Given the description of an element on the screen output the (x, y) to click on. 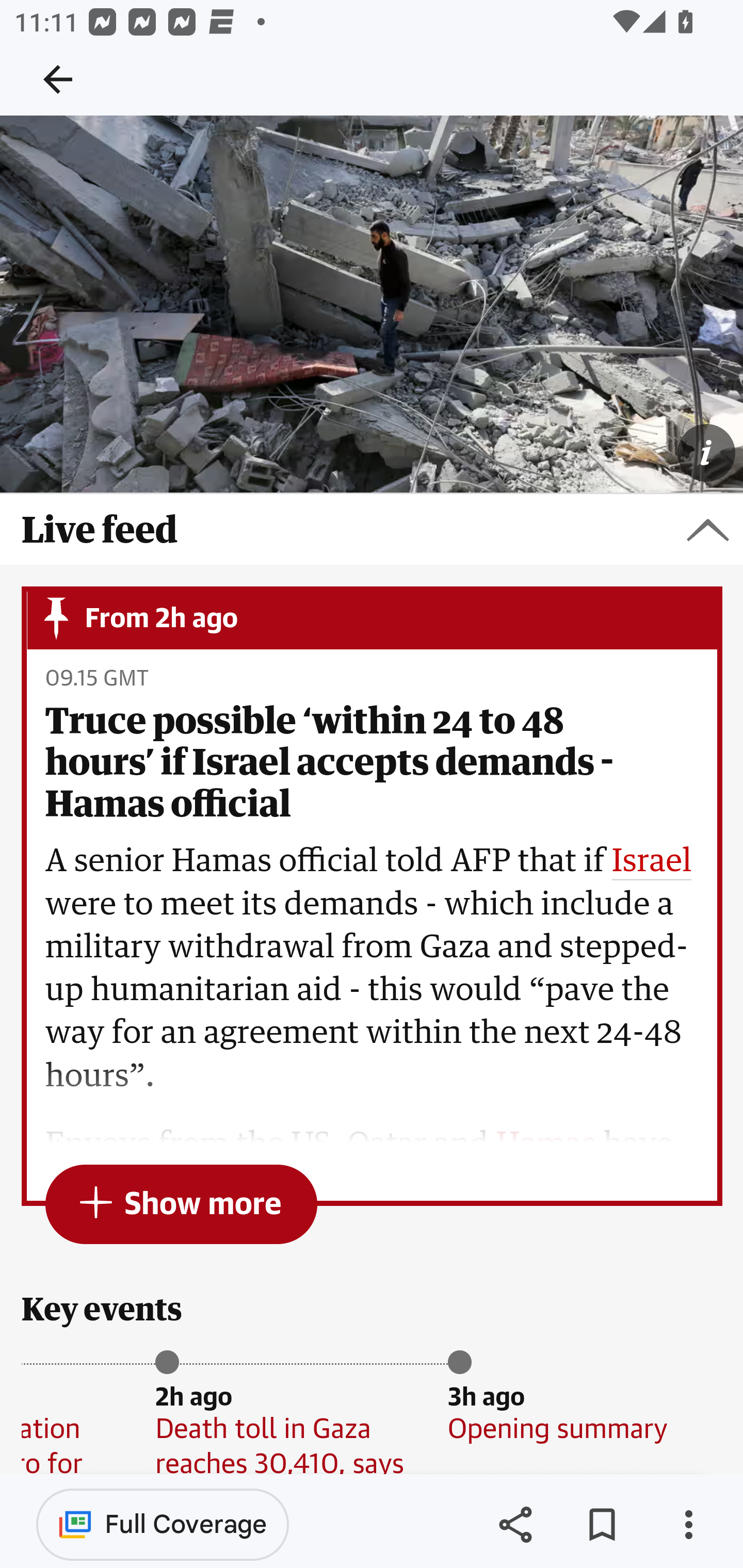
Navigate up (57, 79)
Live feed (371, 529)
09.15 GMT (96, 679)
Israel (651, 862)
Share (514, 1524)
Save for later (601, 1524)
More options (688, 1524)
Full Coverage (162, 1524)
